Given the description of an element on the screen output the (x, y) to click on. 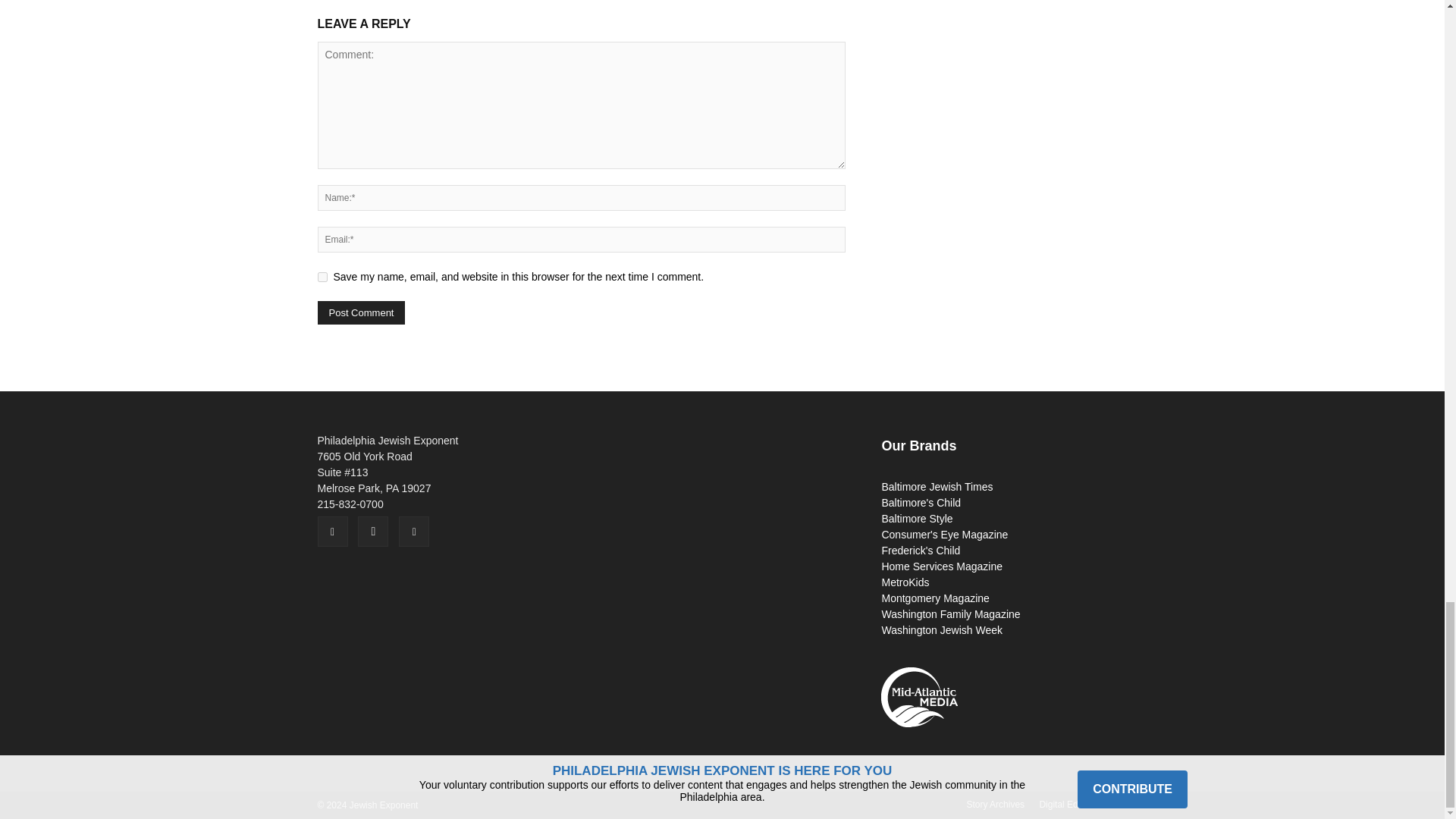
Post Comment (360, 312)
yes (321, 276)
